Given the description of an element on the screen output the (x, y) to click on. 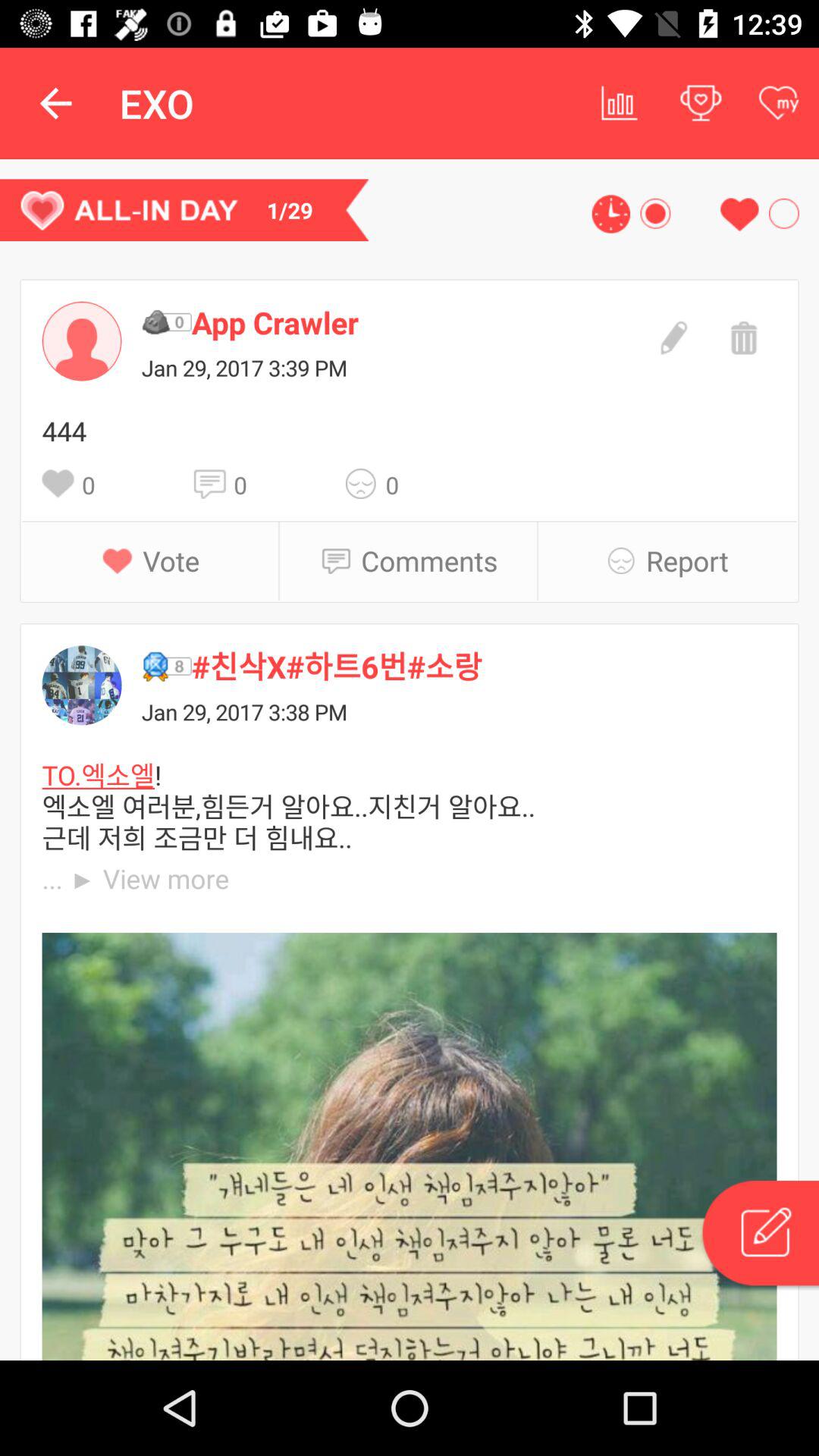
press the icon above comments icon (365, 483)
